Given the description of an element on the screen output the (x, y) to click on. 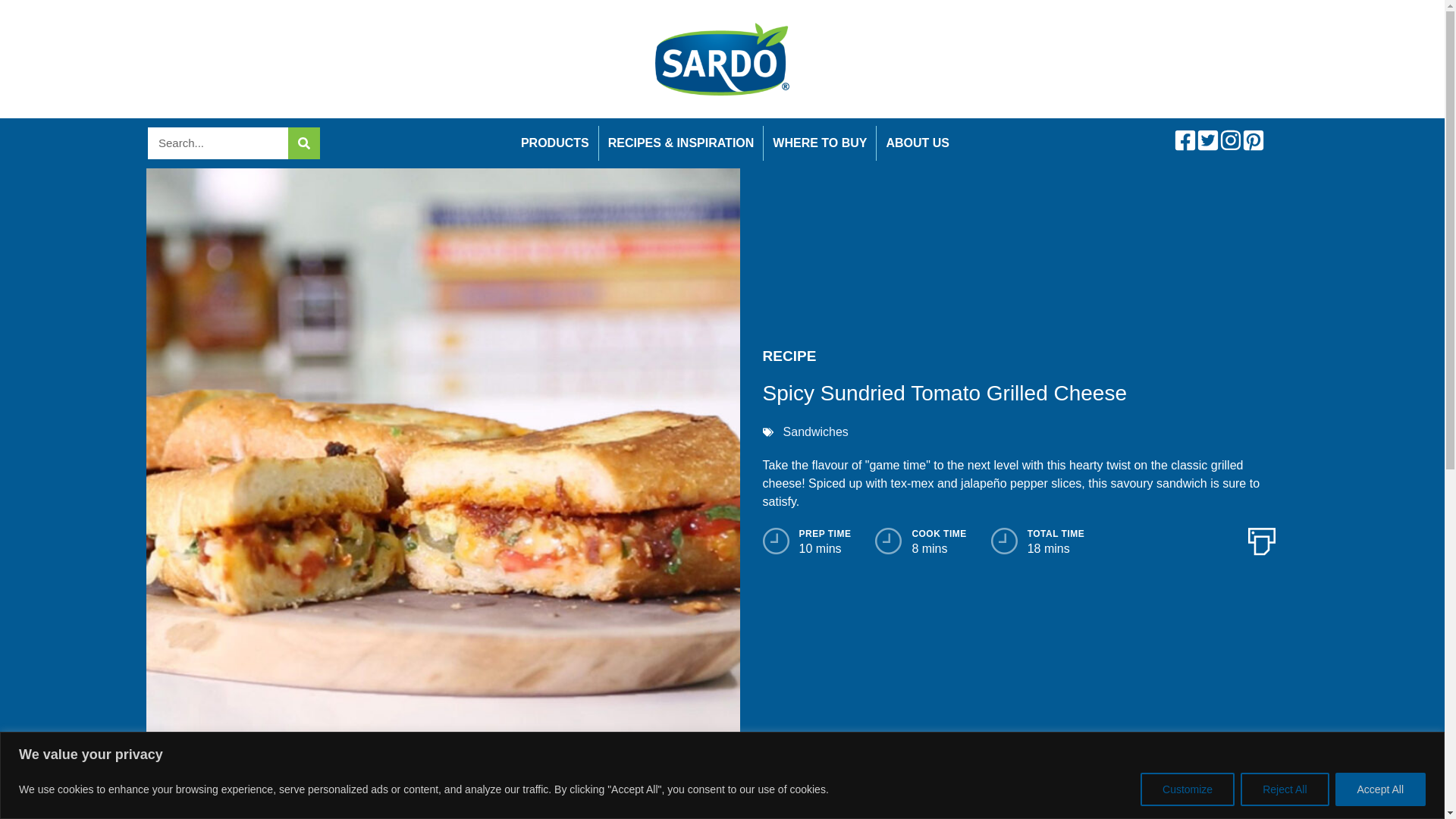
PRODUCTS (555, 143)
Reject All (1283, 788)
Accept All (1380, 788)
ABOUT US (917, 143)
Customize (1187, 788)
Sandwiches (815, 431)
WHERE TO BUY (819, 143)
